Given the description of an element on the screen output the (x, y) to click on. 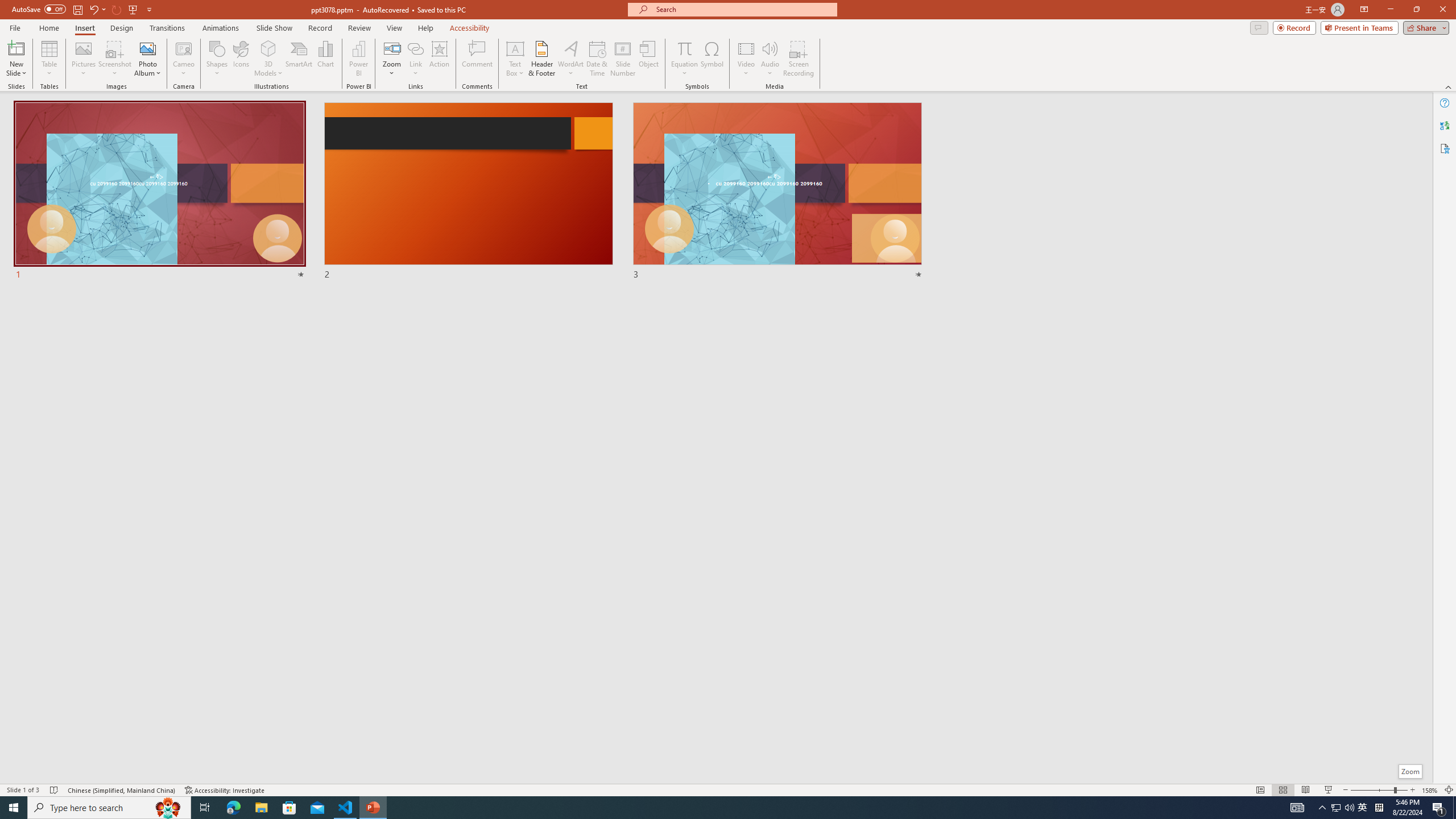
Comment (476, 58)
Link (415, 48)
Equation (683, 48)
Link (415, 58)
